Given the description of an element on the screen output the (x, y) to click on. 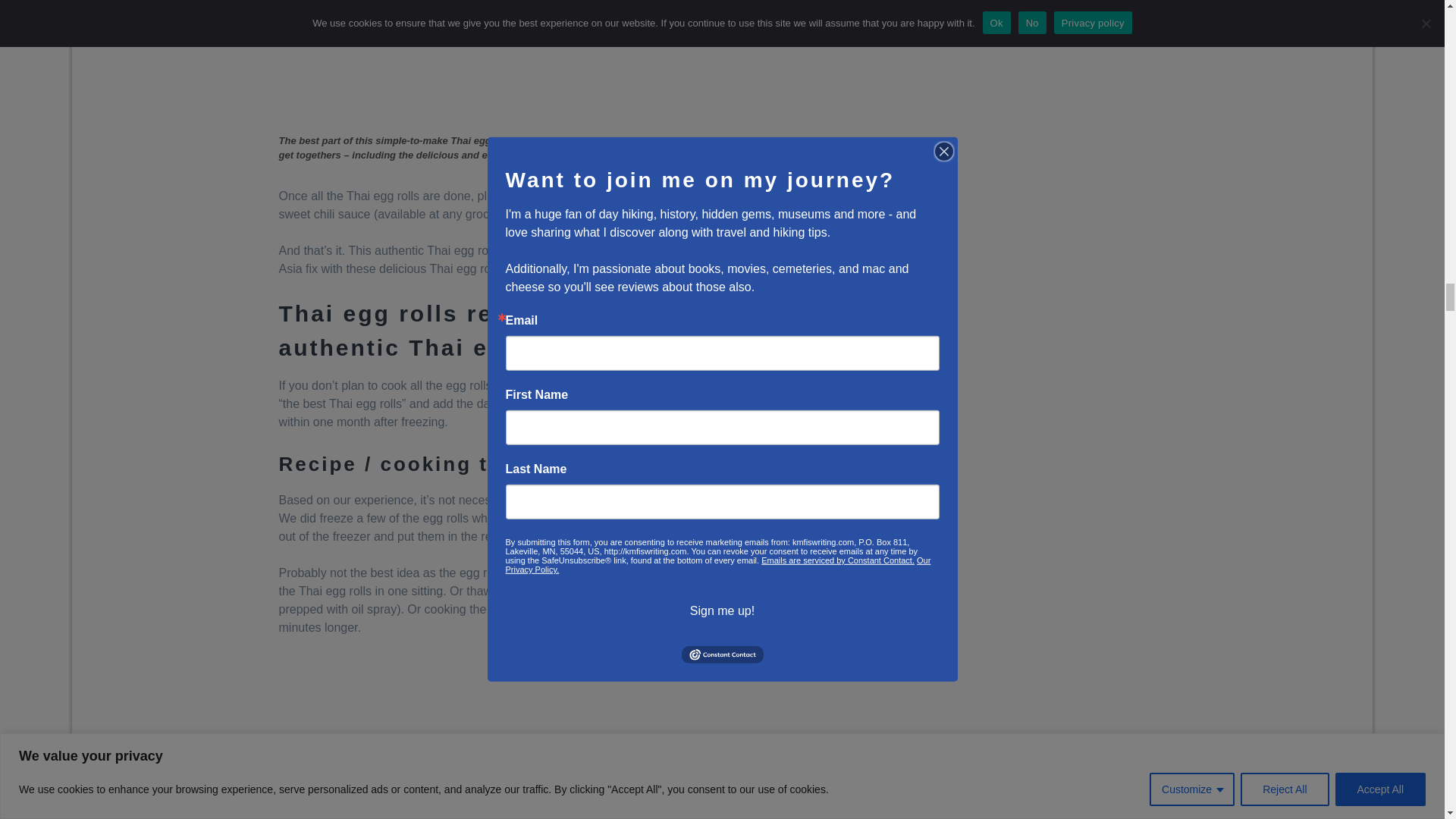
GetYourGuide Widget (579, 712)
